Given the description of an element on the screen output the (x, y) to click on. 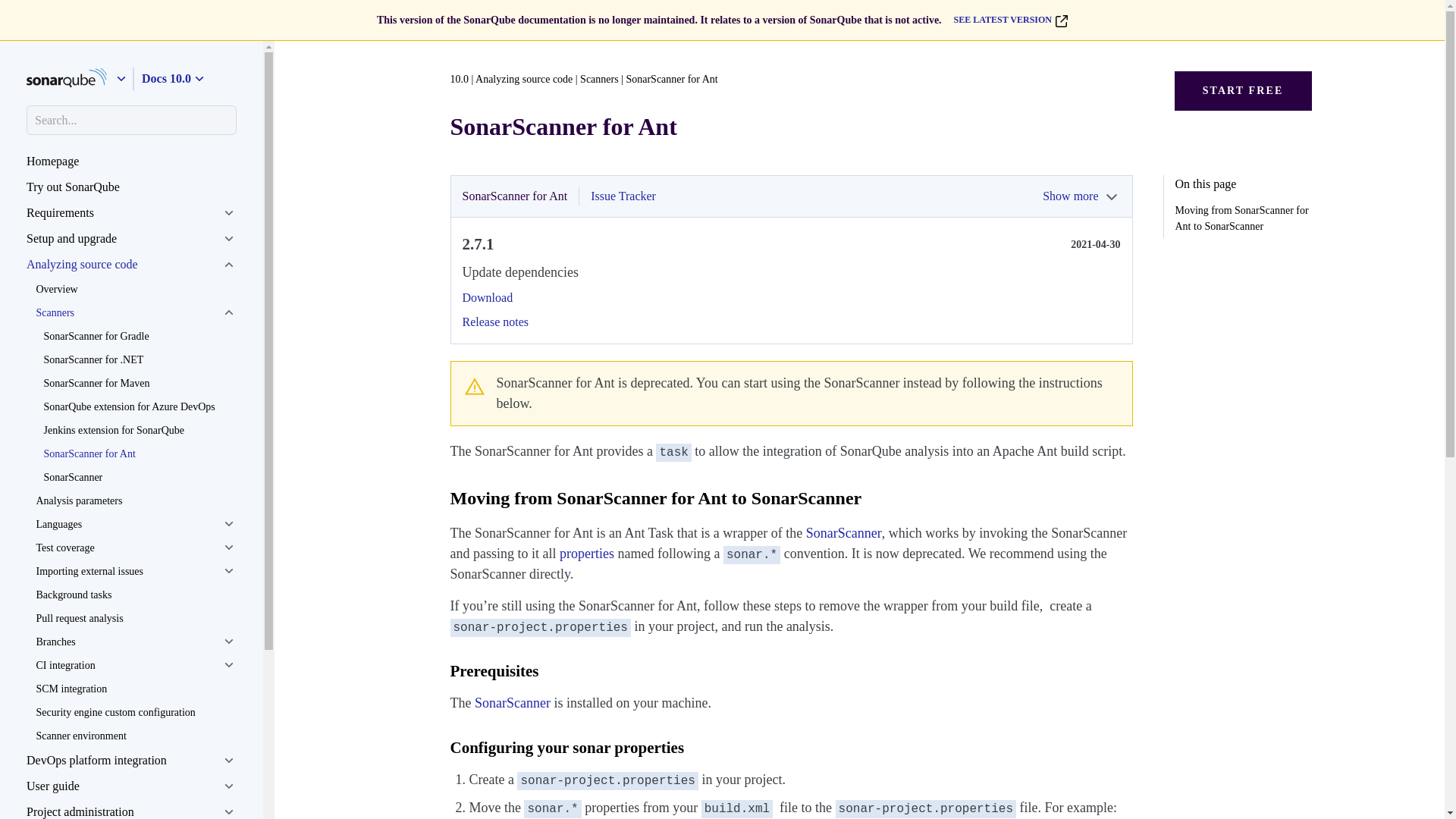
User guide (131, 786)
Try out SonarQube (131, 186)
SCM integration (135, 688)
Jenkins extension for SonarQube (138, 430)
Pull request analysis (135, 617)
Overview (135, 289)
SonarScanner for .NET (138, 359)
See latest version (1004, 19)
Scanner environment (135, 734)
Security engine custom configuration (135, 712)
